Given the description of an element on the screen output the (x, y) to click on. 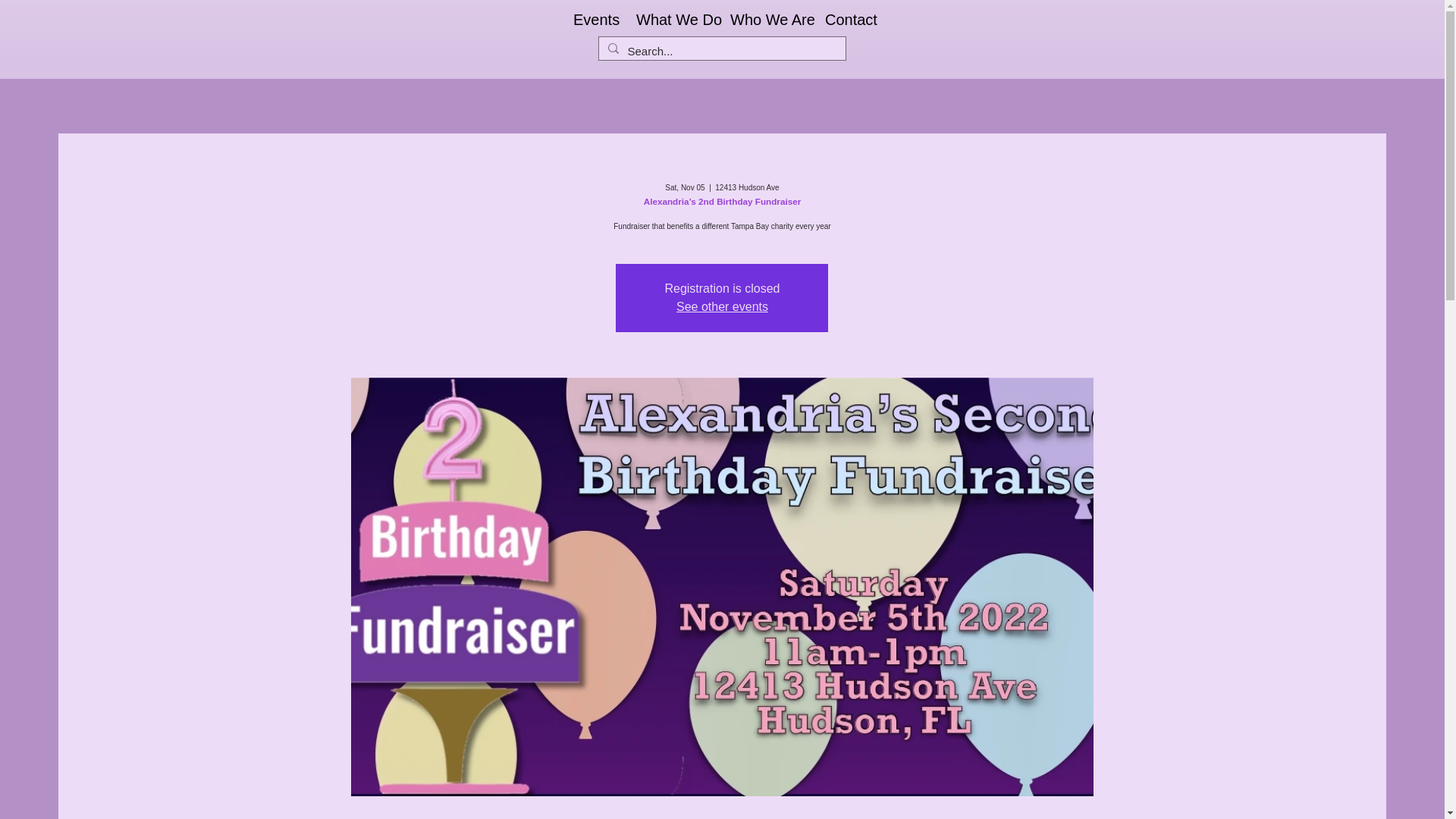
Contact (847, 19)
See other events (722, 306)
Events (593, 19)
Who We Are (766, 19)
What We Do (671, 19)
